Given the description of an element on the screen output the (x, y) to click on. 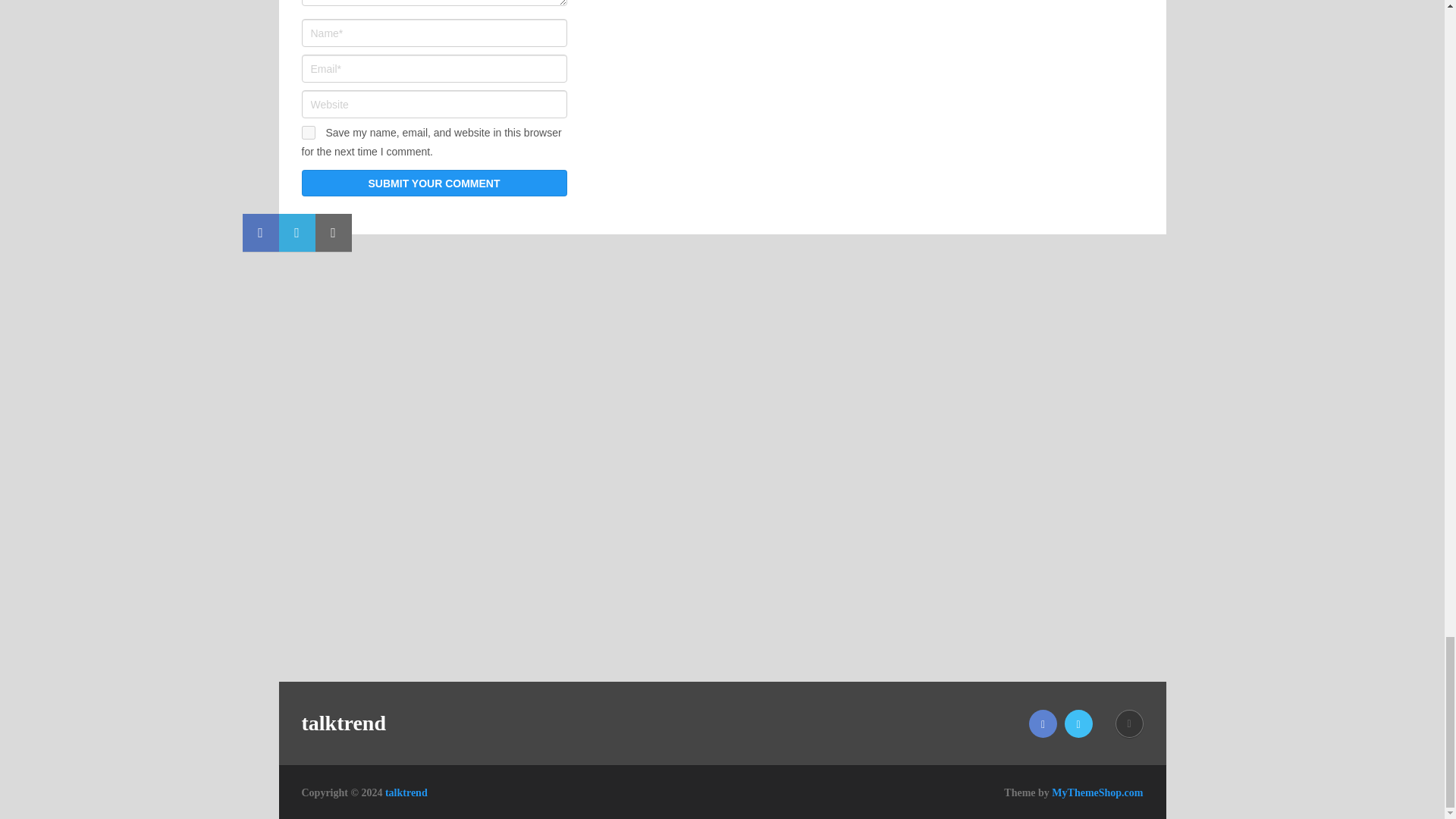
talktrend (406, 792)
yes (308, 132)
talktrend (344, 722)
Submit Your Comment (434, 182)
Submit Your Comment (434, 182)
MyThemeShop.com (1096, 792)
